Given the description of an element on the screen output the (x, y) to click on. 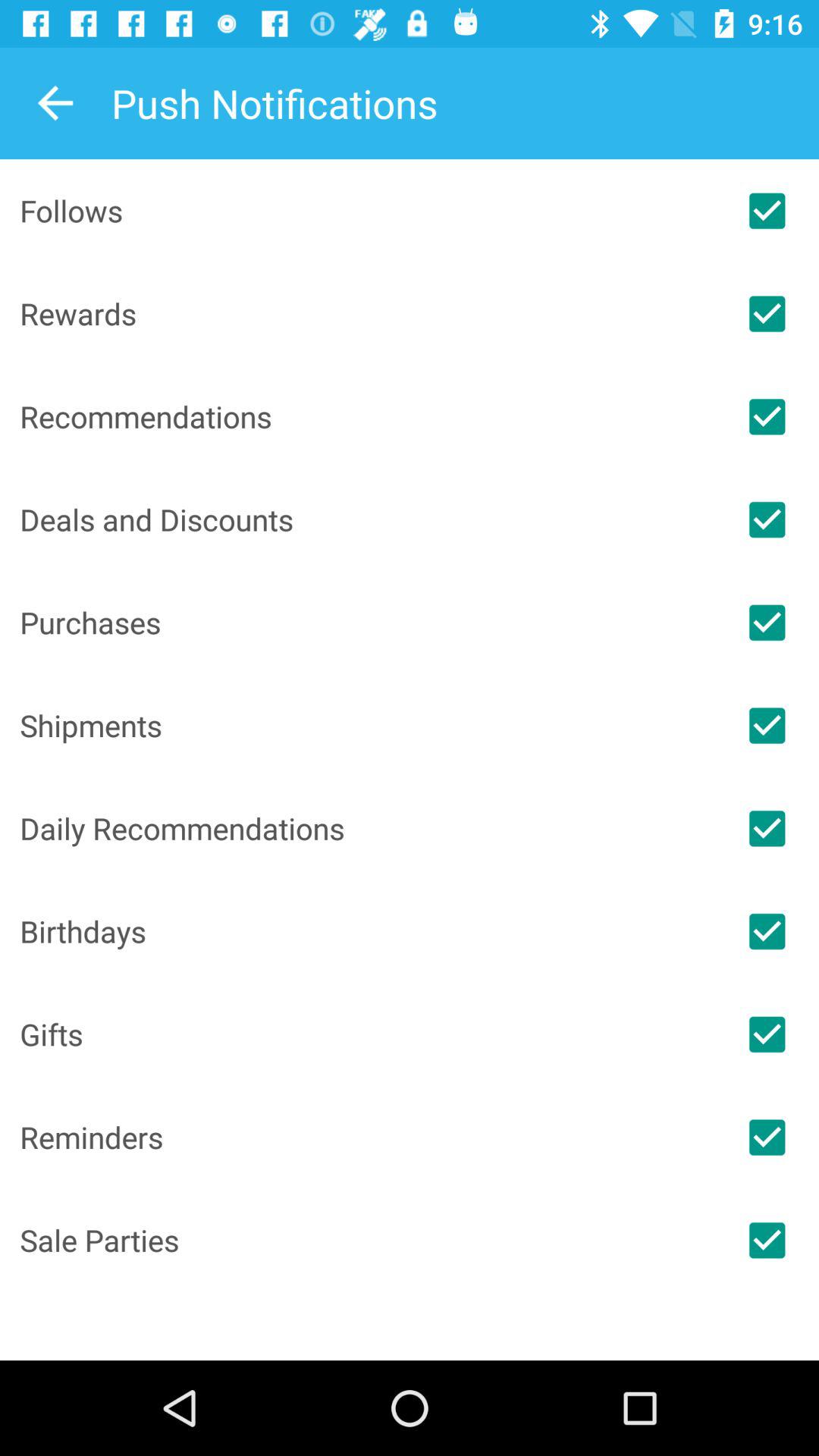
select item above the birthdays item (367, 828)
